Given the description of an element on the screen output the (x, y) to click on. 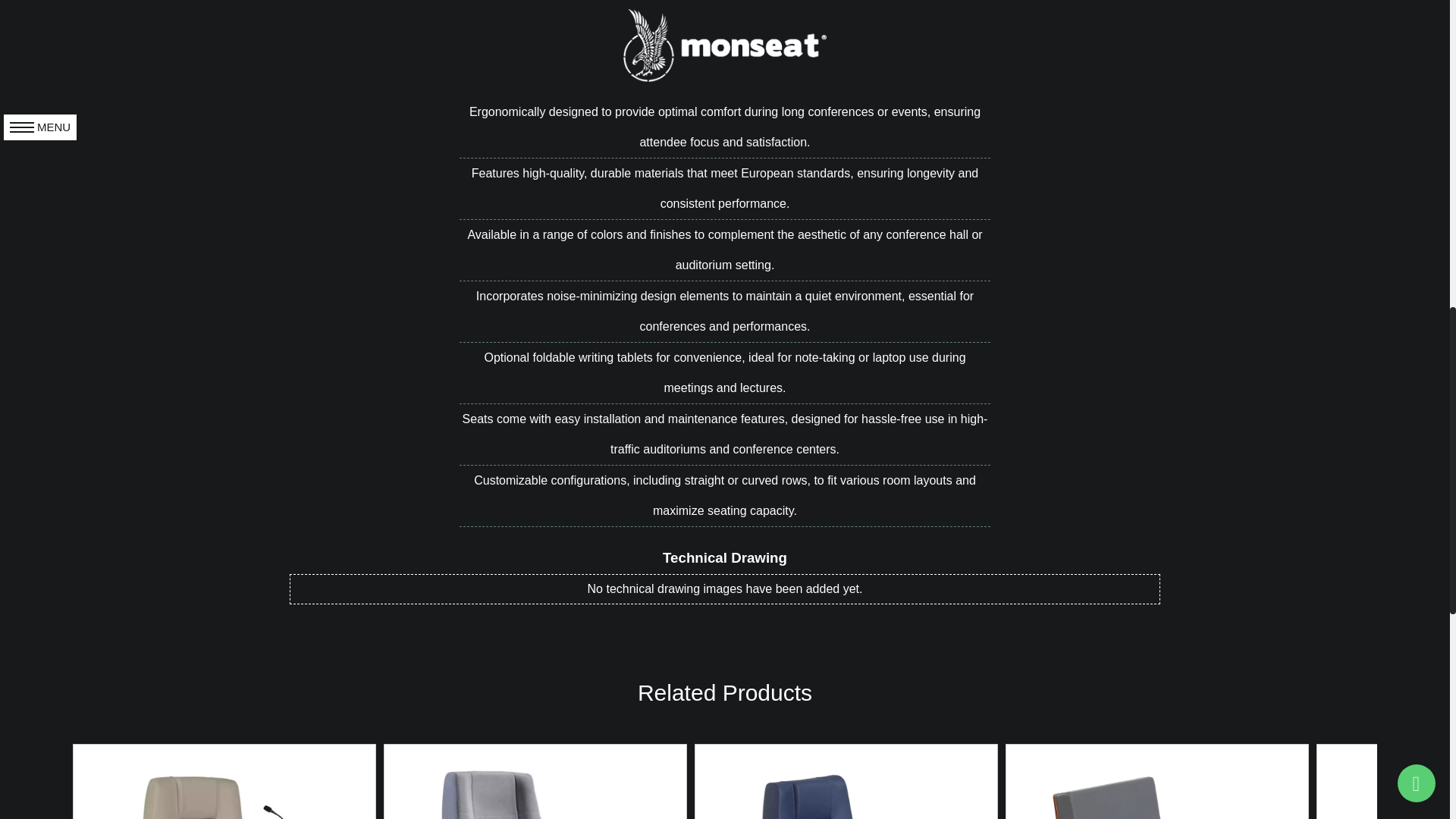
Seat Model: AQUAMARINE 01 (846, 781)
Seat Model: AQUAMARINE 3P (1156, 781)
Seat Model: AQUAMARINE (534, 781)
Seat Model: AMETIST (224, 781)
